Given the description of an element on the screen output the (x, y) to click on. 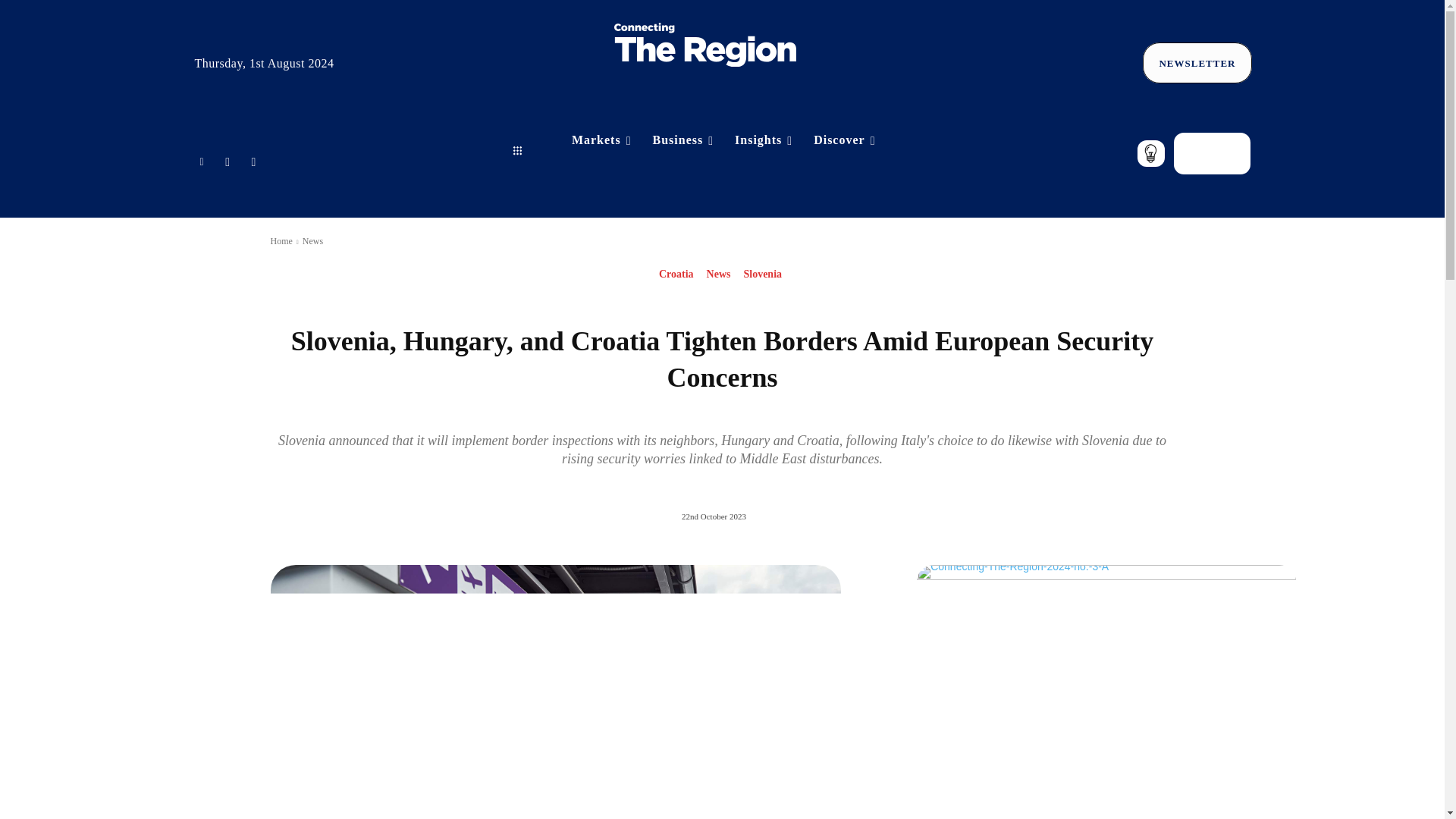
Twitter (227, 160)
Instagram (253, 160)
Linkedin (200, 160)
Newsletter (1196, 63)
